Given the description of an element on the screen output the (x, y) to click on. 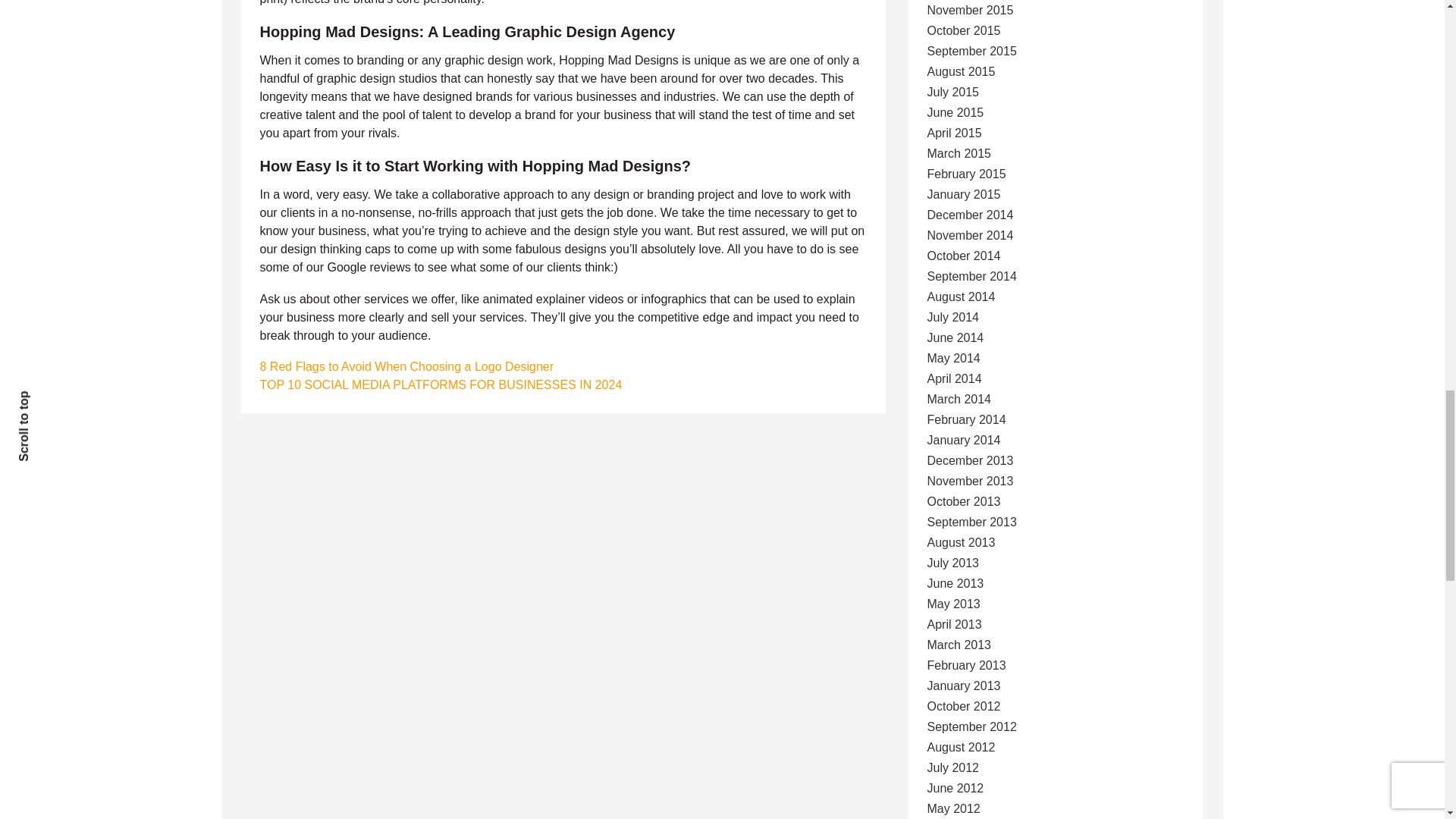
8 Red Flags to Avoid When Choosing a Logo Designer (406, 366)
TOP 10 SOCIAL MEDIA PLATFORMS FOR BUSINESSES IN 2024 (440, 384)
